Given the description of an element on the screen output the (x, y) to click on. 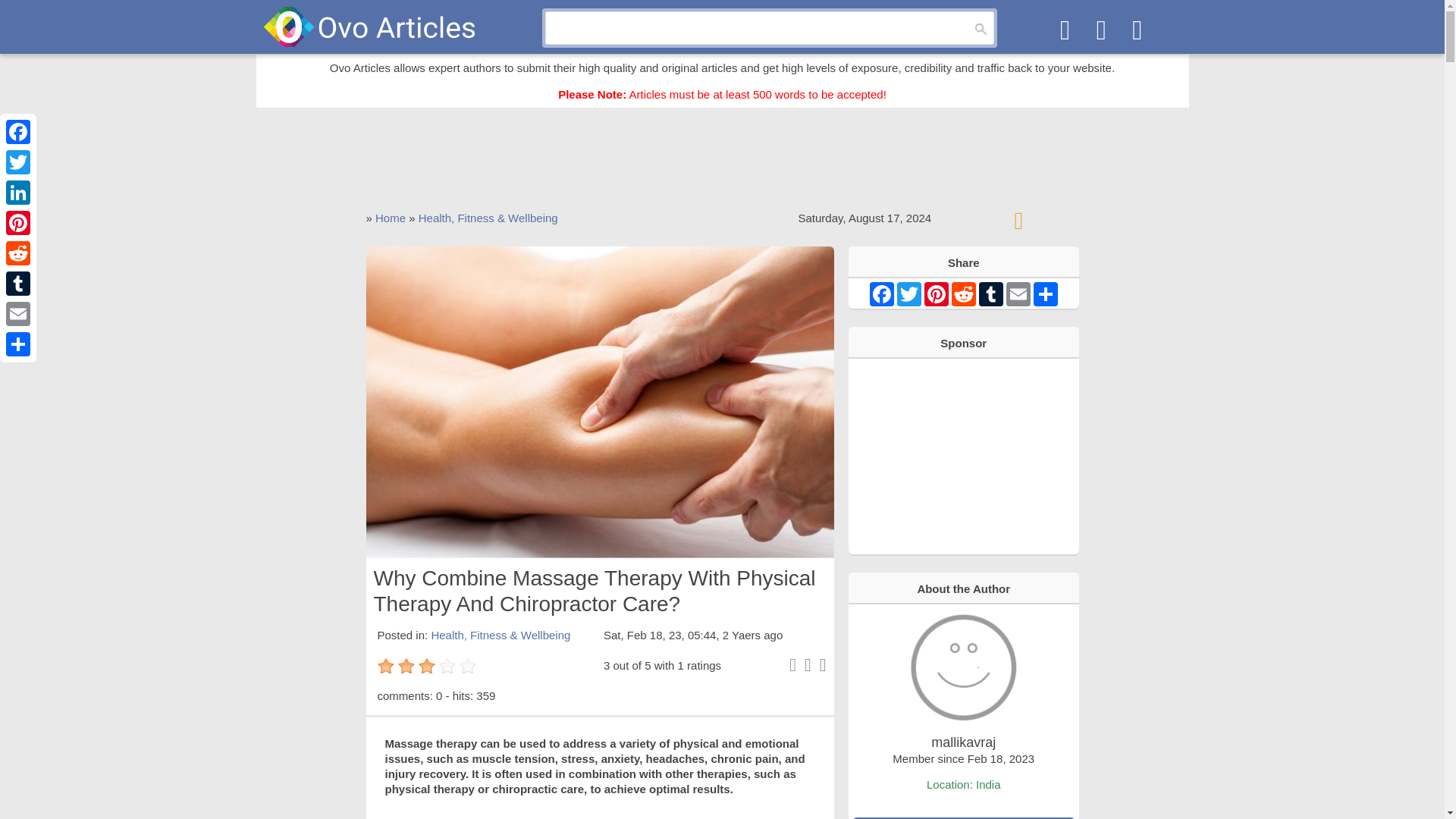
Reddit (17, 253)
Twitter (17, 162)
Ovo Articles - Submit Your Original Articles (369, 26)
Reddit (963, 293)
Share (17, 344)
Facebook (881, 293)
Share (1045, 293)
Pinterest (17, 223)
Home (390, 217)
Twitter (909, 293)
